Given the description of an element on the screen output the (x, y) to click on. 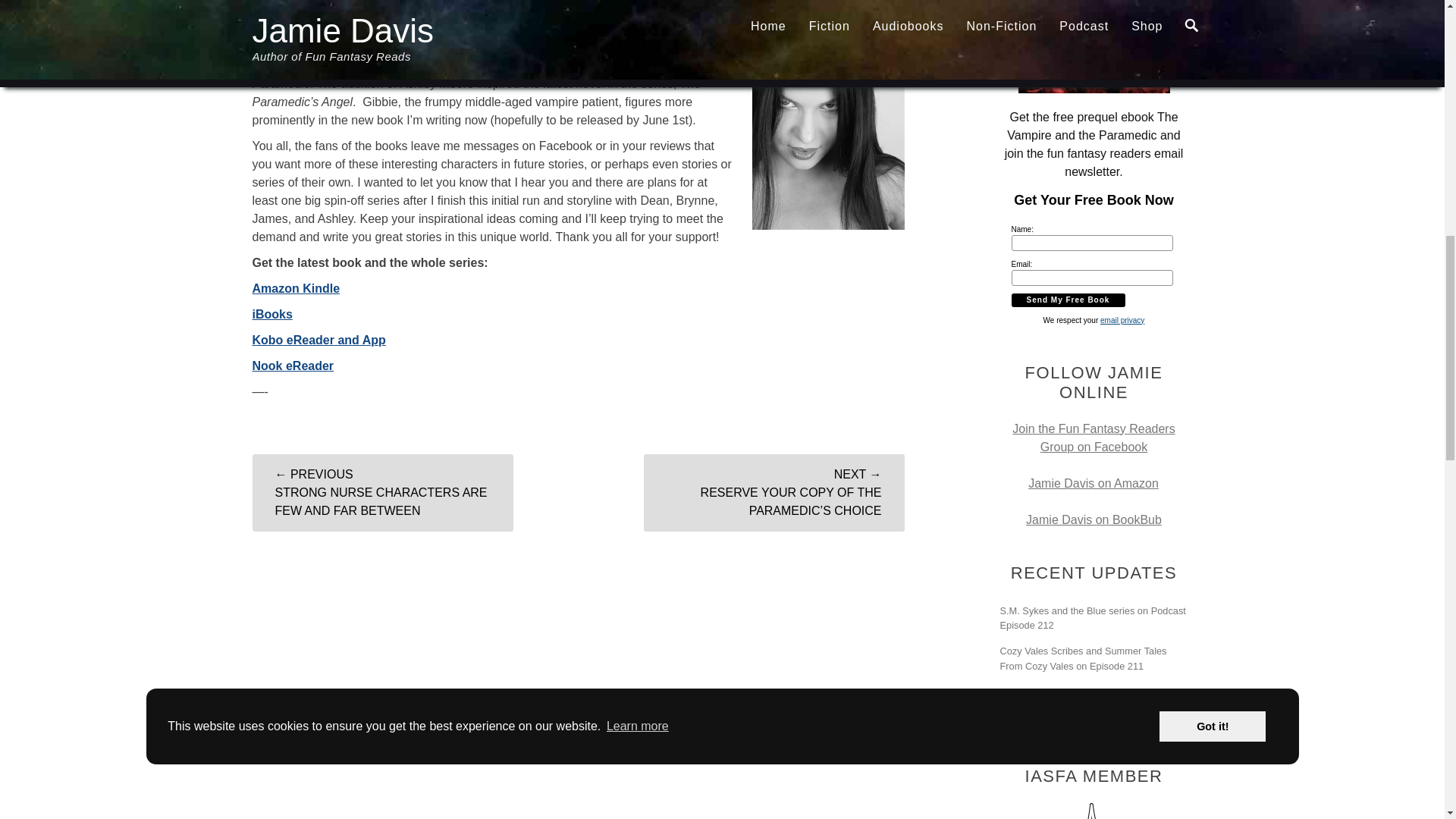
iBooks (271, 314)
Send My Free Book (1068, 300)
Privacy Policy (1122, 320)
Amazon Kindle (295, 287)
Kobo eReader and App (318, 339)
